Given the description of an element on the screen output the (x, y) to click on. 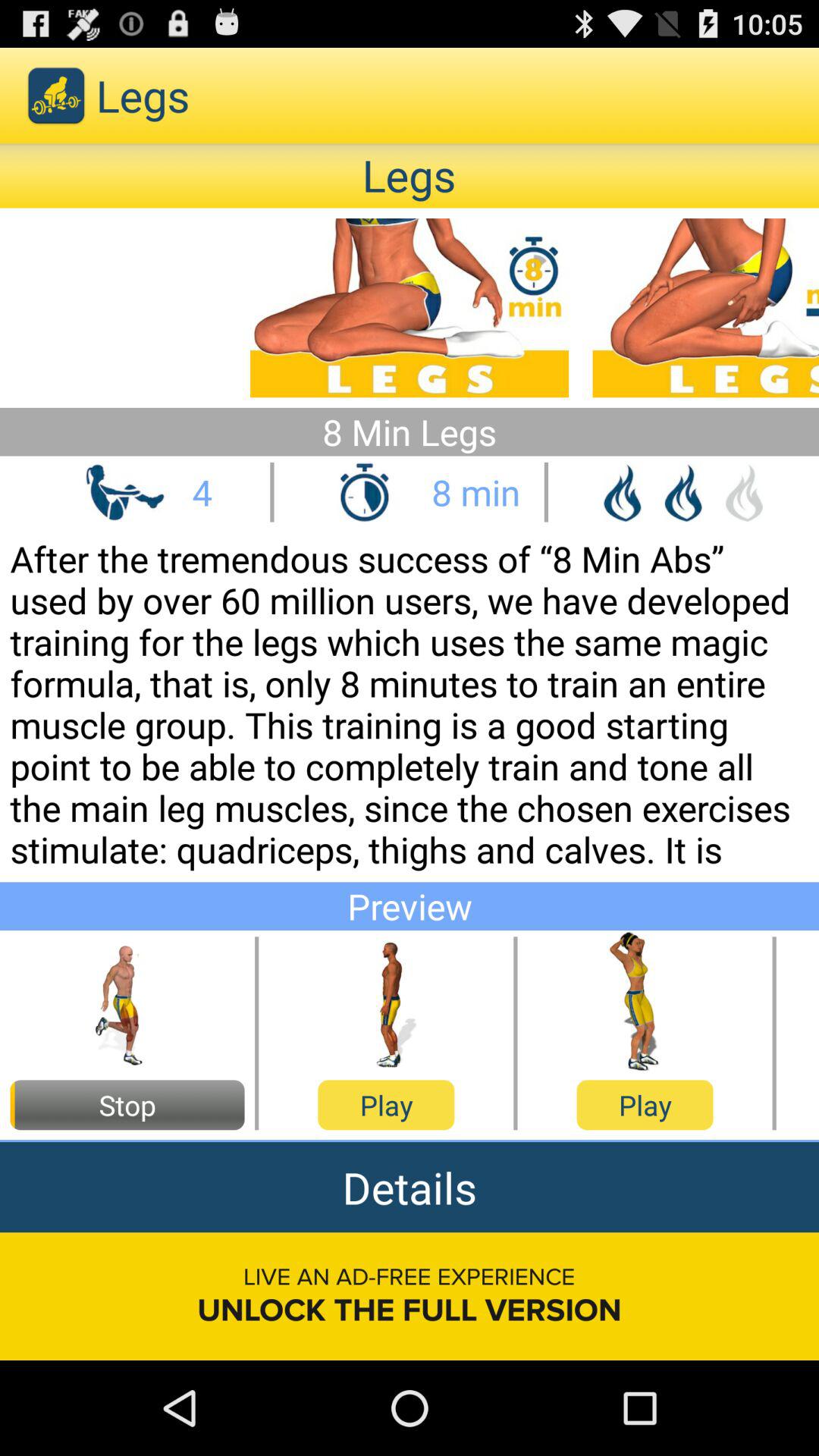
play bar (385, 1001)
